Given the description of an element on the screen output the (x, y) to click on. 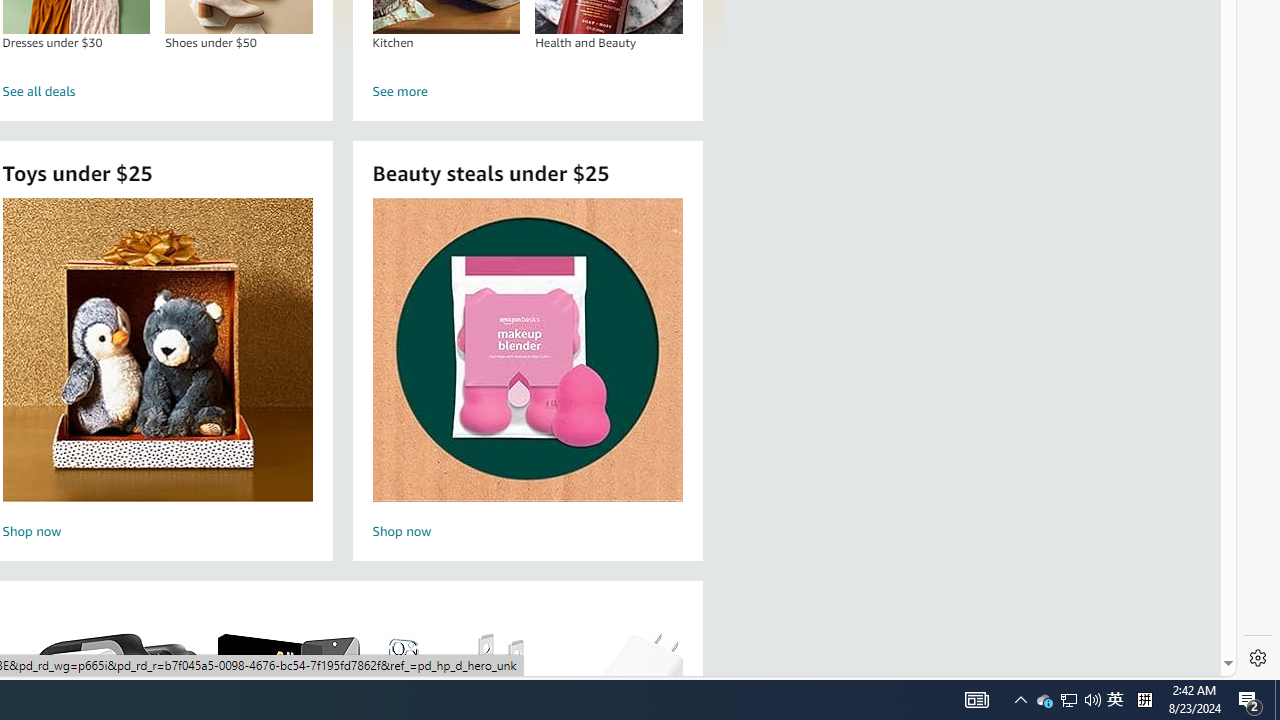
See all deals (157, 92)
Beauty steals under $25 (526, 349)
Beauty steals under $25 Shop now (527, 371)
